Given the description of an element on the screen output the (x, y) to click on. 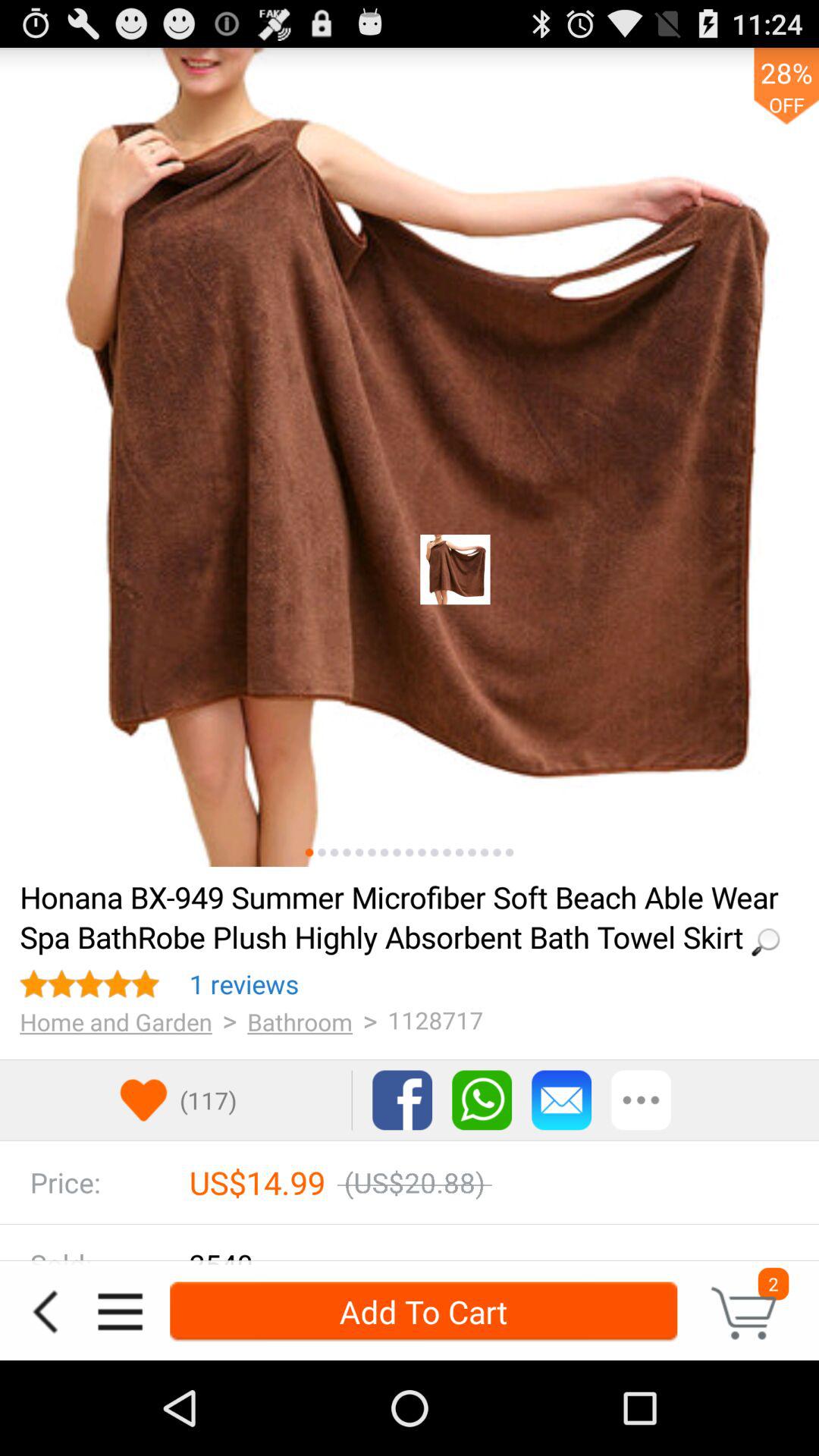
open navigation menu (120, 1311)
